Given the description of an element on the screen output the (x, y) to click on. 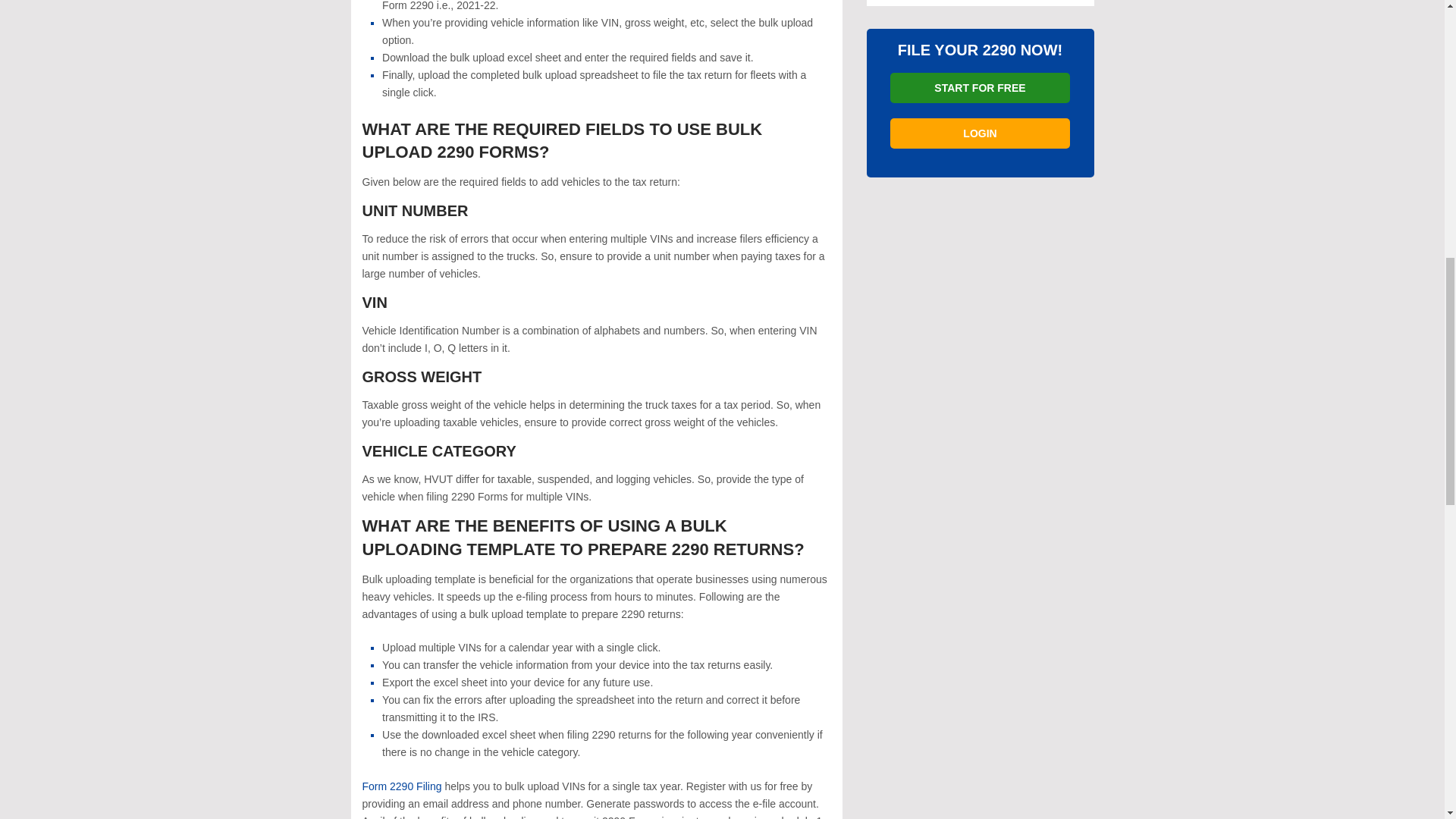
Form 2290 Filing (402, 786)
